Given the description of an element on the screen output the (x, y) to click on. 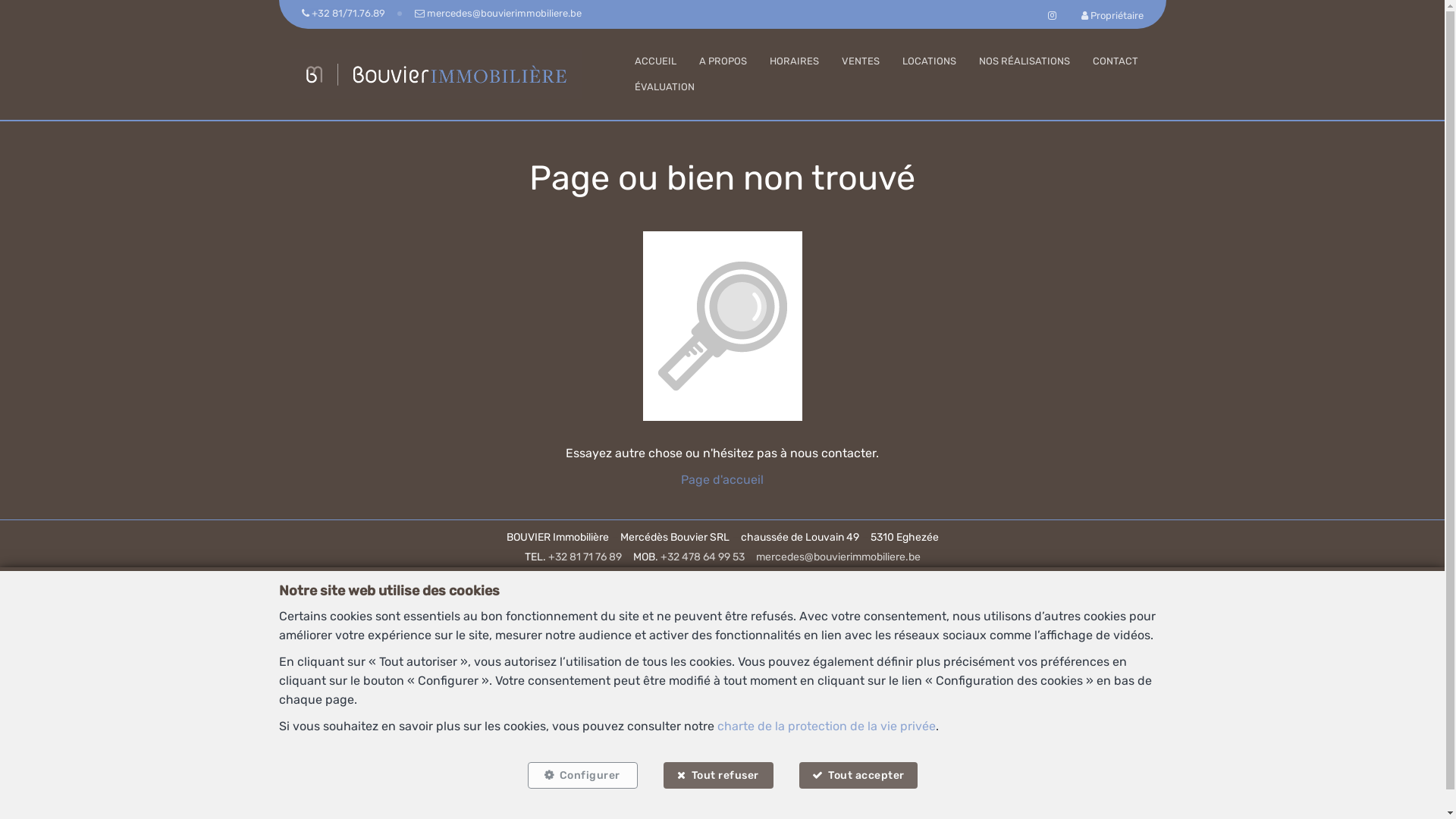
ACCUEIL Element type: text (654, 60)
A PROPOS Element type: text (722, 60)
+32 81 71 76 89 Element type: text (584, 556)
LOCATIONS Element type: text (929, 60)
Page d'accueil Element type: text (721, 479)
HORAIRES Element type: text (793, 60)
Tout accepter Element type: text (858, 775)
Configuration des cookies Element type: text (904, 789)
mercedes@bouvierimmobiliere.be Element type: text (837, 556)
+32 81/71.76.89 Element type: text (344, 13)
mercedes@bouvierimmobiliere.be Element type: text (498, 13)
Configurer Element type: text (582, 775)
VENTES Element type: text (860, 60)
CONTACT Element type: text (1114, 60)
Tout refuser Element type: text (717, 775)
+32 478 64 99 53 Element type: text (701, 556)
